Given the description of an element on the screen output the (x, y) to click on. 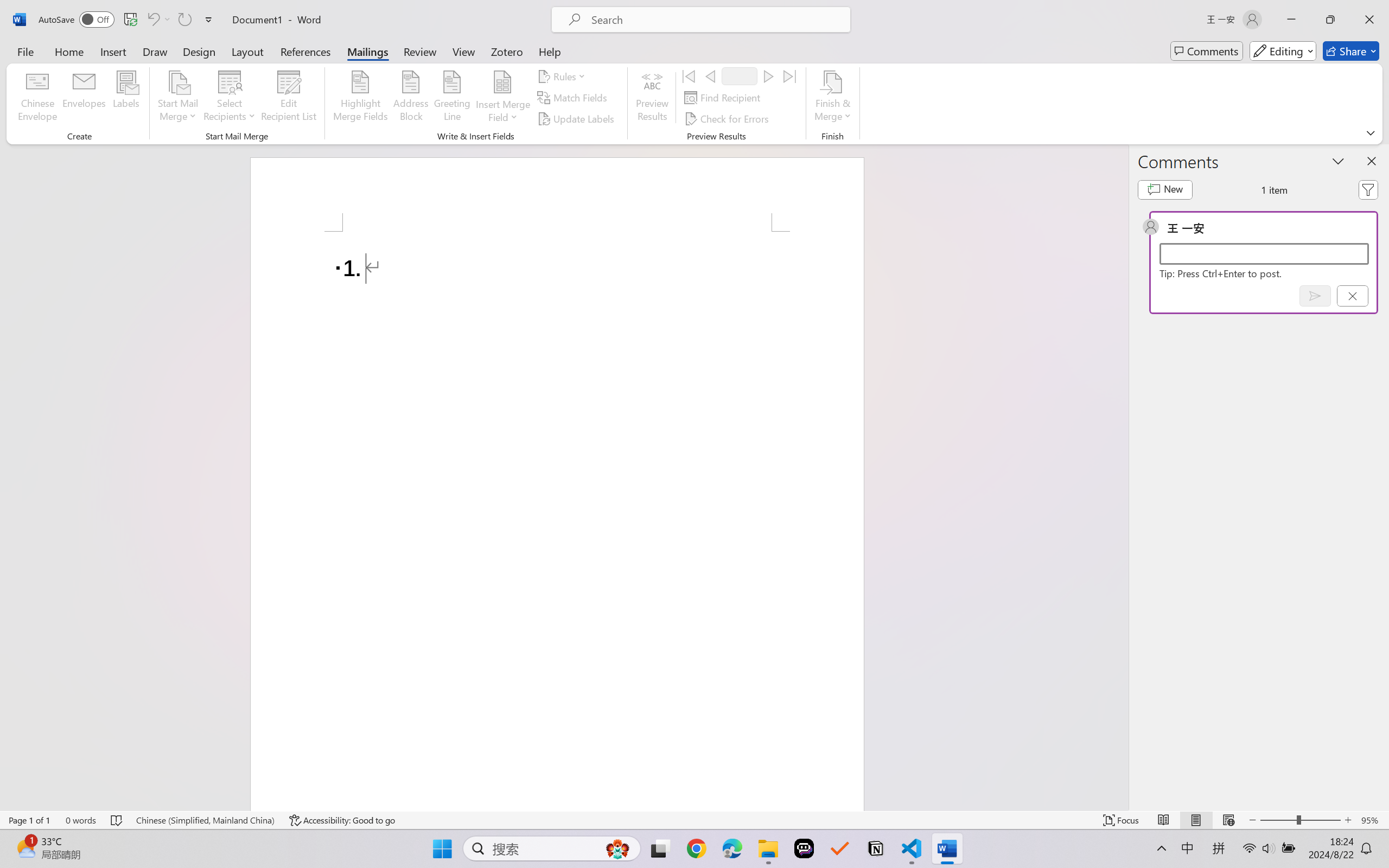
Layout (137, 47)
Rectangle: Rounded Corners (518, 60)
Arc (539, 72)
Increase Font Size (283, 52)
Convert to SmartArt (462, 77)
Line (539, 48)
Slide Notes (690, 747)
